Given the description of an element on the screen output the (x, y) to click on. 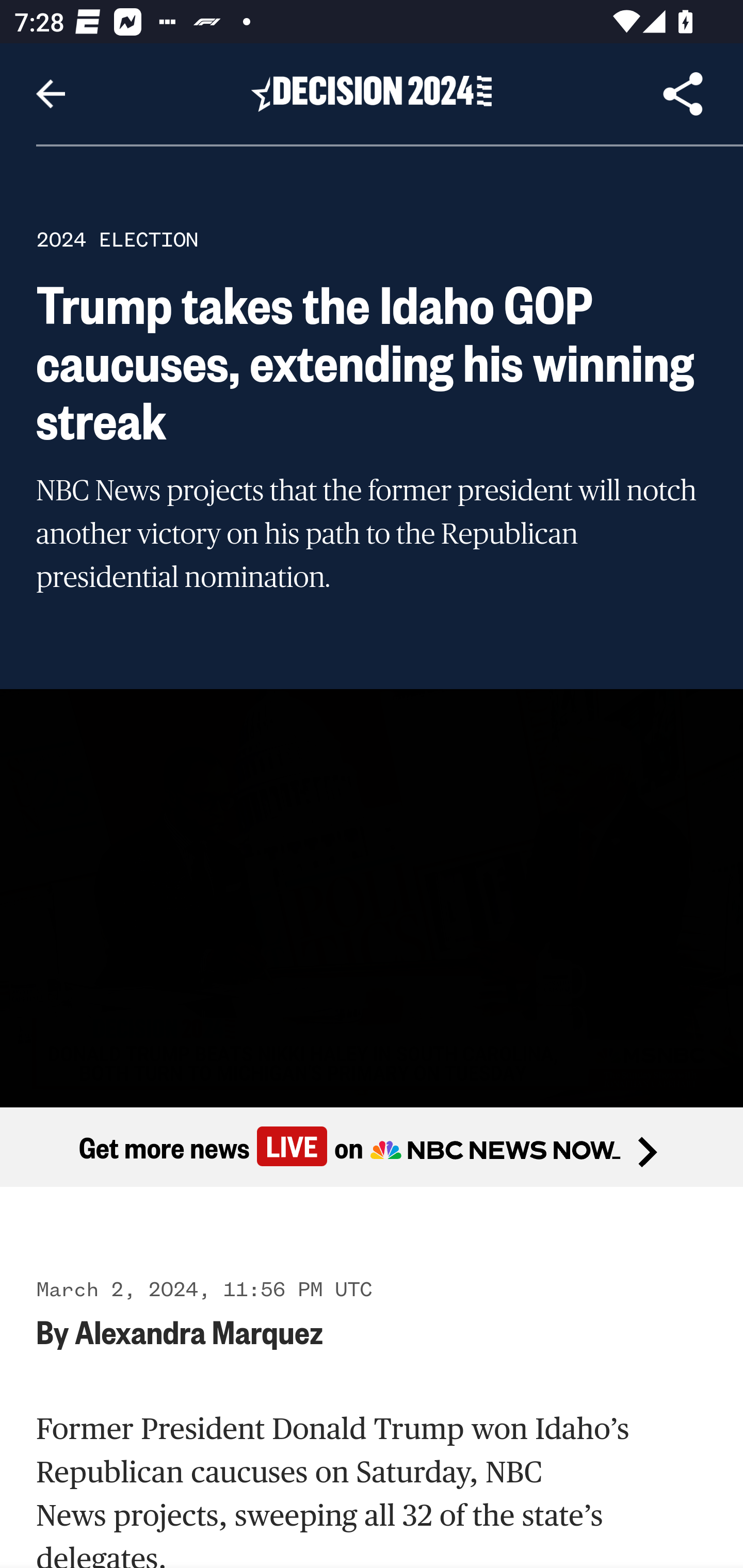
Navigate up (50, 93)
Share Article, button (683, 94)
Header, Decision 2024 (371, 93)
2024 ELECTION (117, 239)
Get more news Live on Get more news Live on (371, 1147)
